Given the description of an element on the screen output the (x, y) to click on. 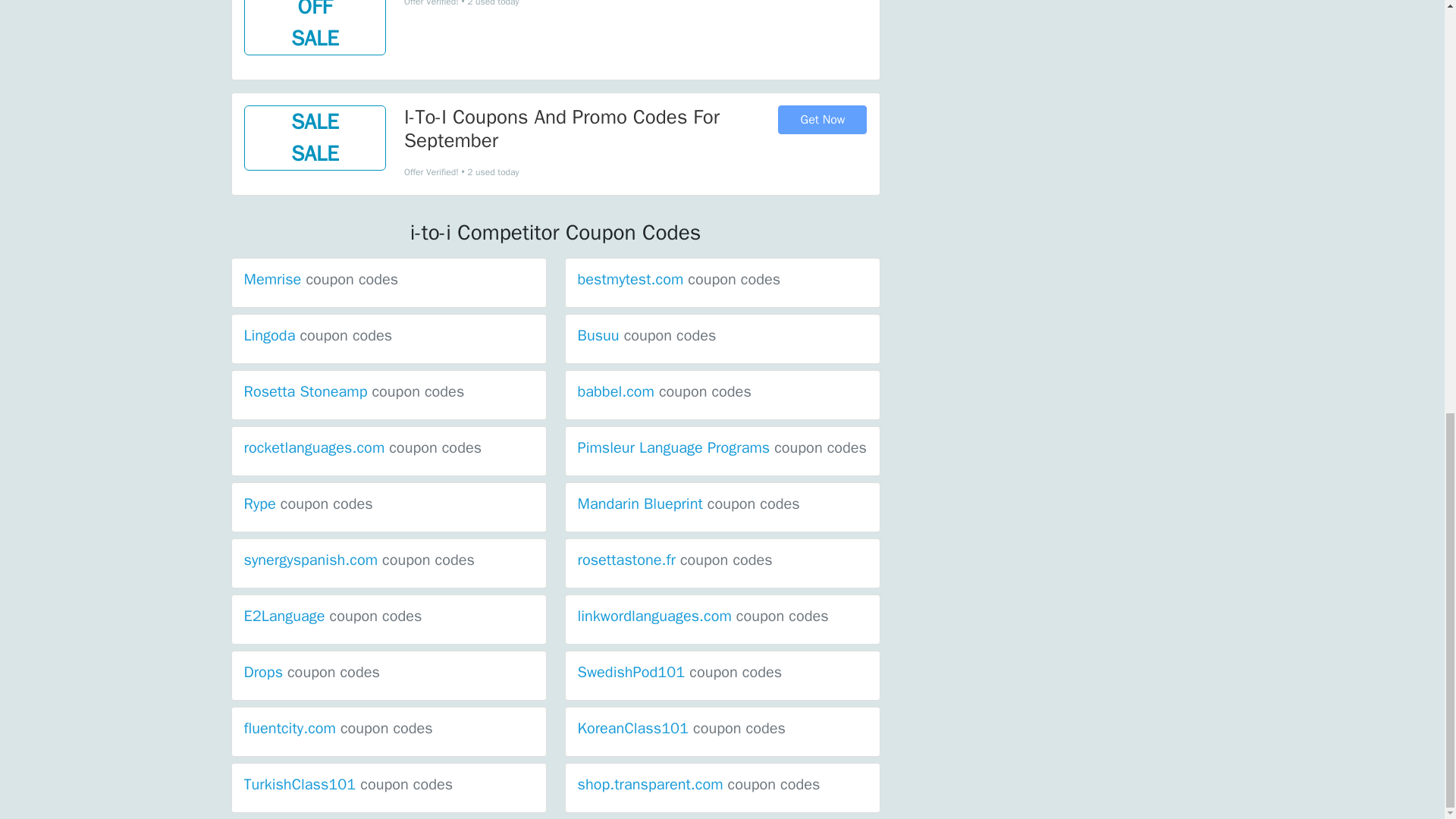
E2Language coupon codes (333, 615)
rosettastone.fr coupon codes (675, 559)
Busuu coupon codes (647, 334)
fluentcity.com coupon codes (338, 728)
linkwordlanguages.com coupon codes (703, 615)
bestmytest.com coupon codes (679, 279)
bestmytest.com coupon codes (679, 279)
KoreanClass101 coupon codes (682, 728)
babbel.com coupon codes (664, 391)
E2Language coupon codes (333, 615)
synergyspanish.com coupon codes (359, 559)
Rype coupon codes (308, 503)
SwedishPod101 coupon codes (680, 671)
shop.transparent.com coupon codes (699, 783)
Memrise coupon codes (321, 279)
